Given the description of an element on the screen output the (x, y) to click on. 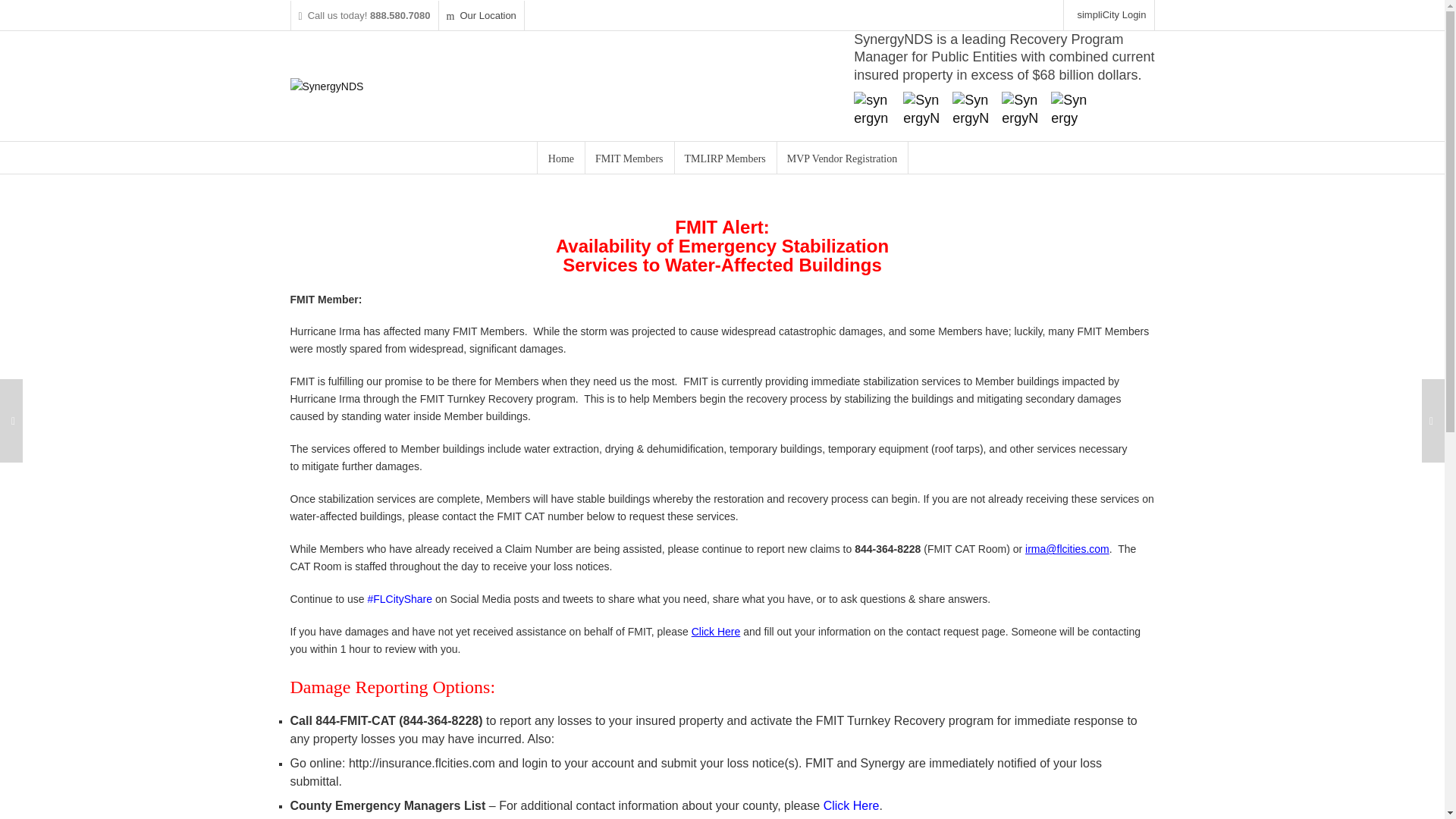
Home (561, 157)
simpliCity Login (1108, 15)
MVP Vendor Registration (842, 157)
Click Here (716, 631)
FMIT Members (630, 157)
Click Here (851, 805)
Our Location (481, 15)
TMLIRP Members (725, 157)
